Given the description of an element on the screen output the (x, y) to click on. 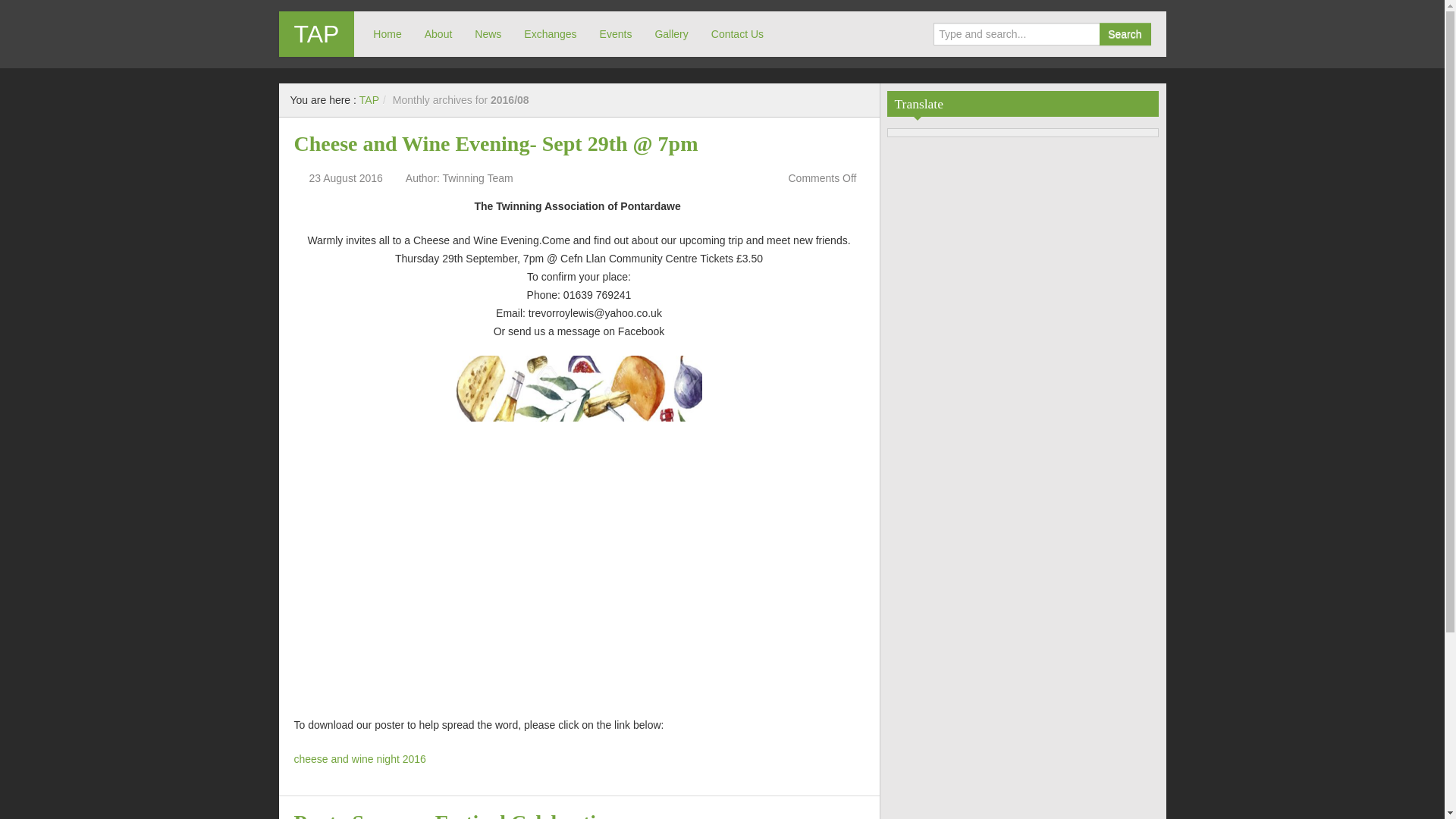
TAP (316, 33)
Home (386, 33)
Search (1124, 33)
Ponty Summer Festival Celebration (456, 814)
Ponty Summer Festival Celebration (456, 814)
Events (615, 33)
TAP (316, 33)
Contact Us (737, 33)
News (487, 33)
cheese and wine night 2016 (360, 758)
